Given the description of an element on the screen output the (x, y) to click on. 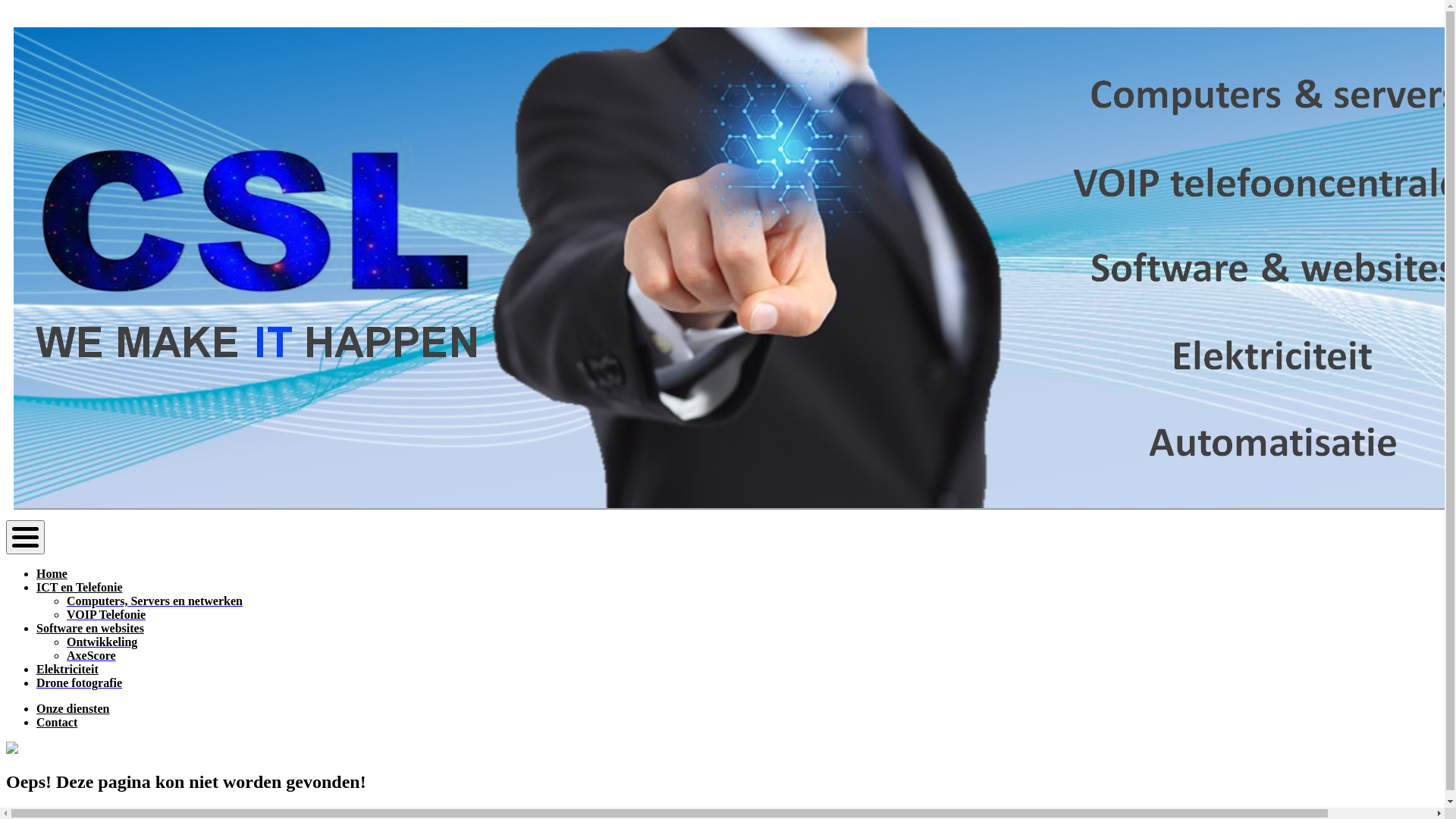
Software en websites Element type: text (90, 627)
VOIP Telefonie Element type: text (105, 614)
ICT en Telefonie Element type: text (79, 586)
Elektriciteit Element type: text (67, 668)
Onze diensten Element type: text (72, 708)
Drone fotografie Element type: text (79, 682)
Computers, Servers en netwerken Element type: text (154, 600)
Contact Element type: text (56, 721)
AxeScore Element type: text (91, 655)
Home Element type: text (51, 573)
Ontwikkeling Element type: text (101, 641)
